Given the description of an element on the screen output the (x, y) to click on. 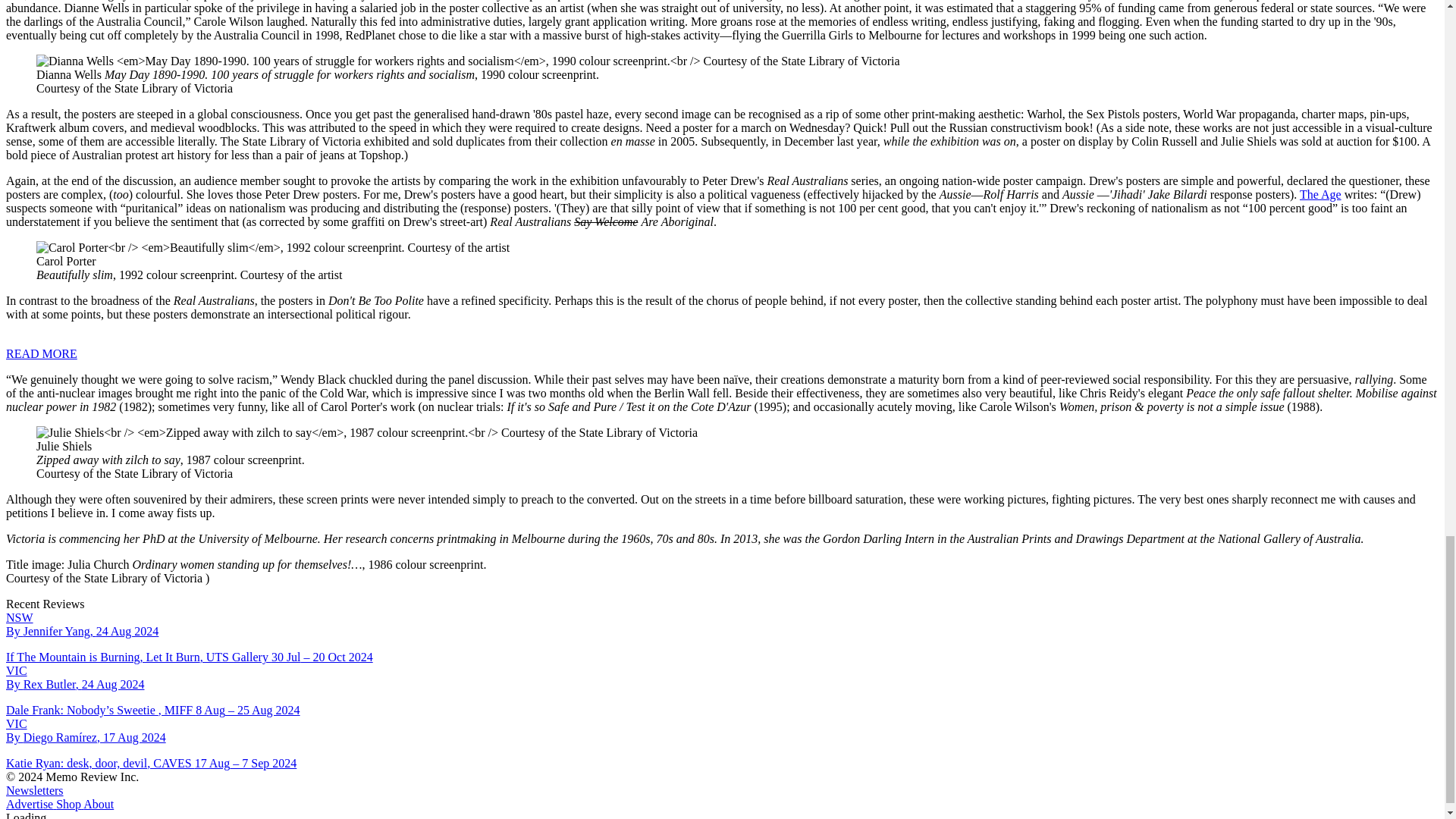
 About (97, 803)
Advertise (28, 803)
 Shop (66, 803)
Newsletters (34, 789)
READ MORE (41, 353)
The Age (1320, 194)
